Given the description of an element on the screen output the (x, y) to click on. 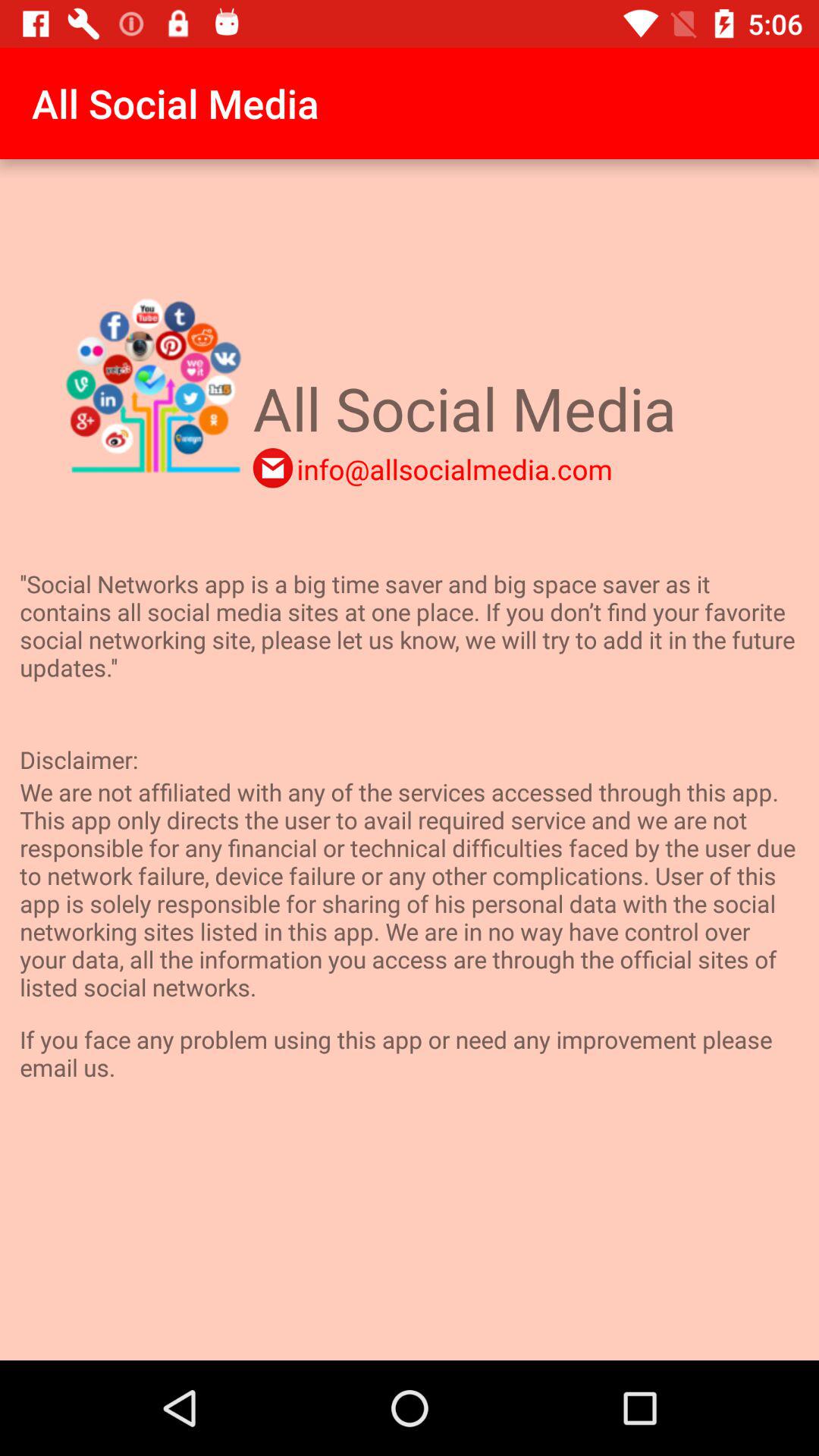
click the item below the all social media icon (272, 467)
